Given the description of an element on the screen output the (x, y) to click on. 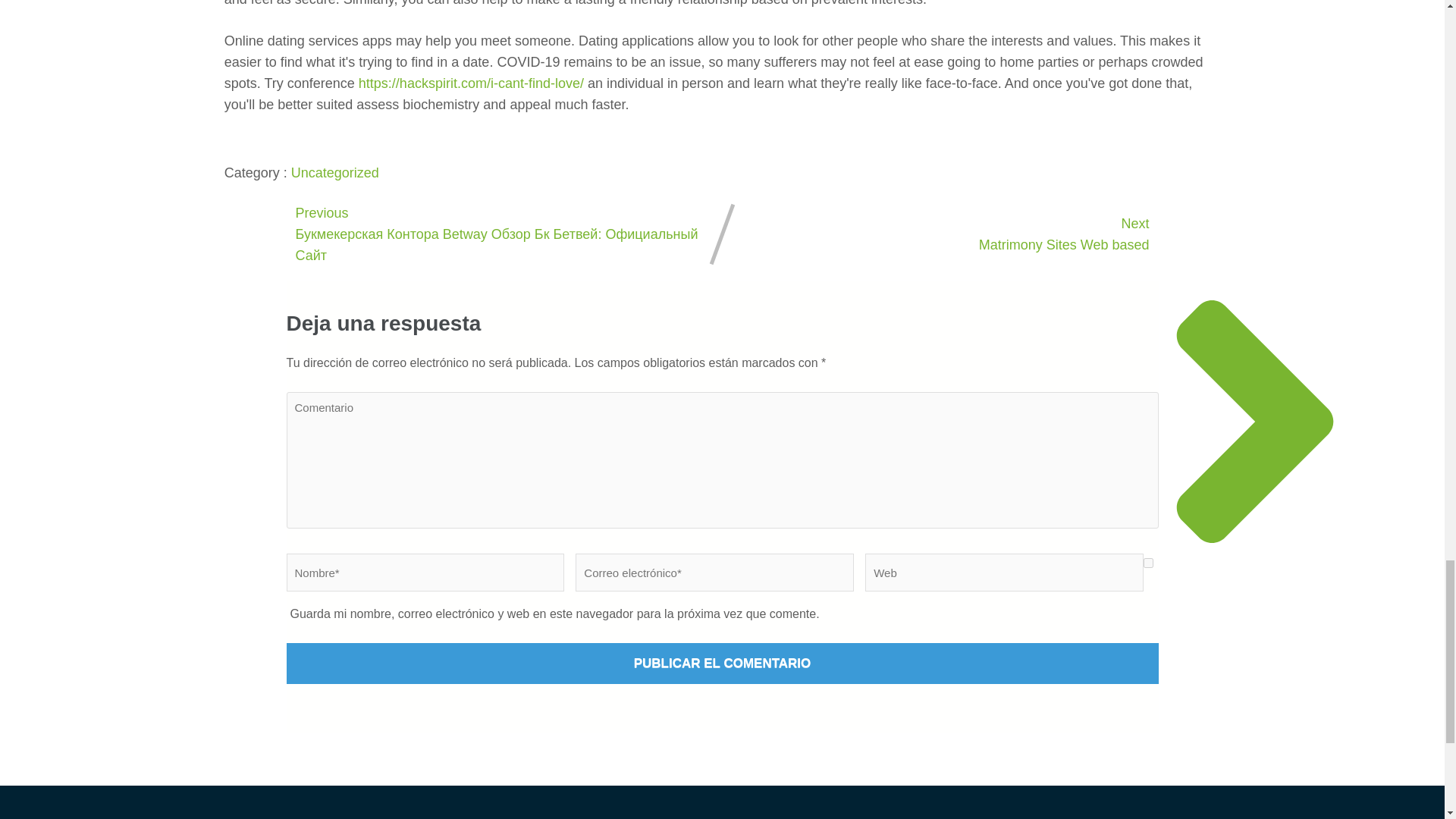
yes (1147, 562)
Publicar el comentario (722, 662)
